Given the description of an element on the screen output the (x, y) to click on. 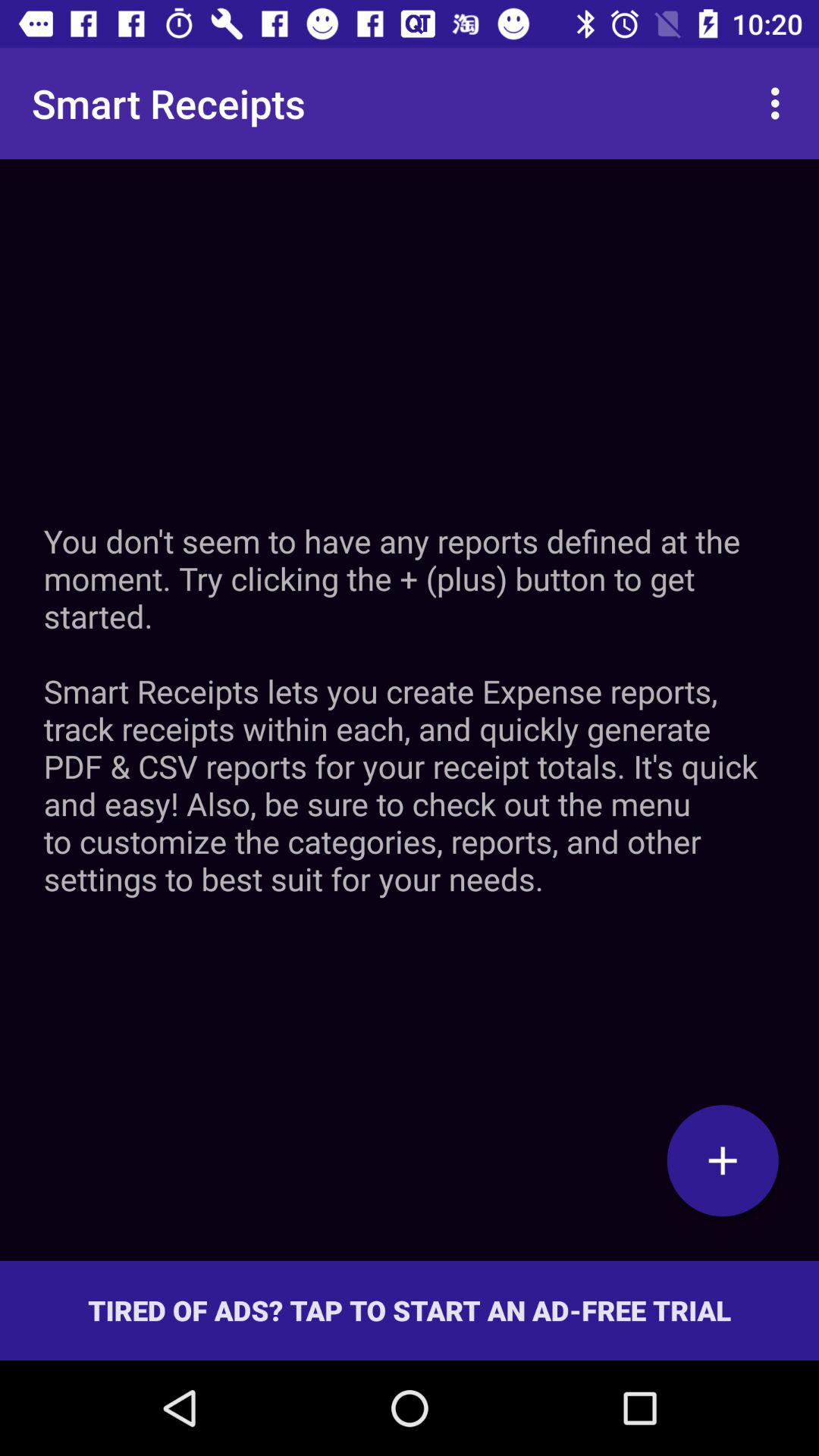
click icon next to the smart receipts item (779, 103)
